Given the description of an element on the screen output the (x, y) to click on. 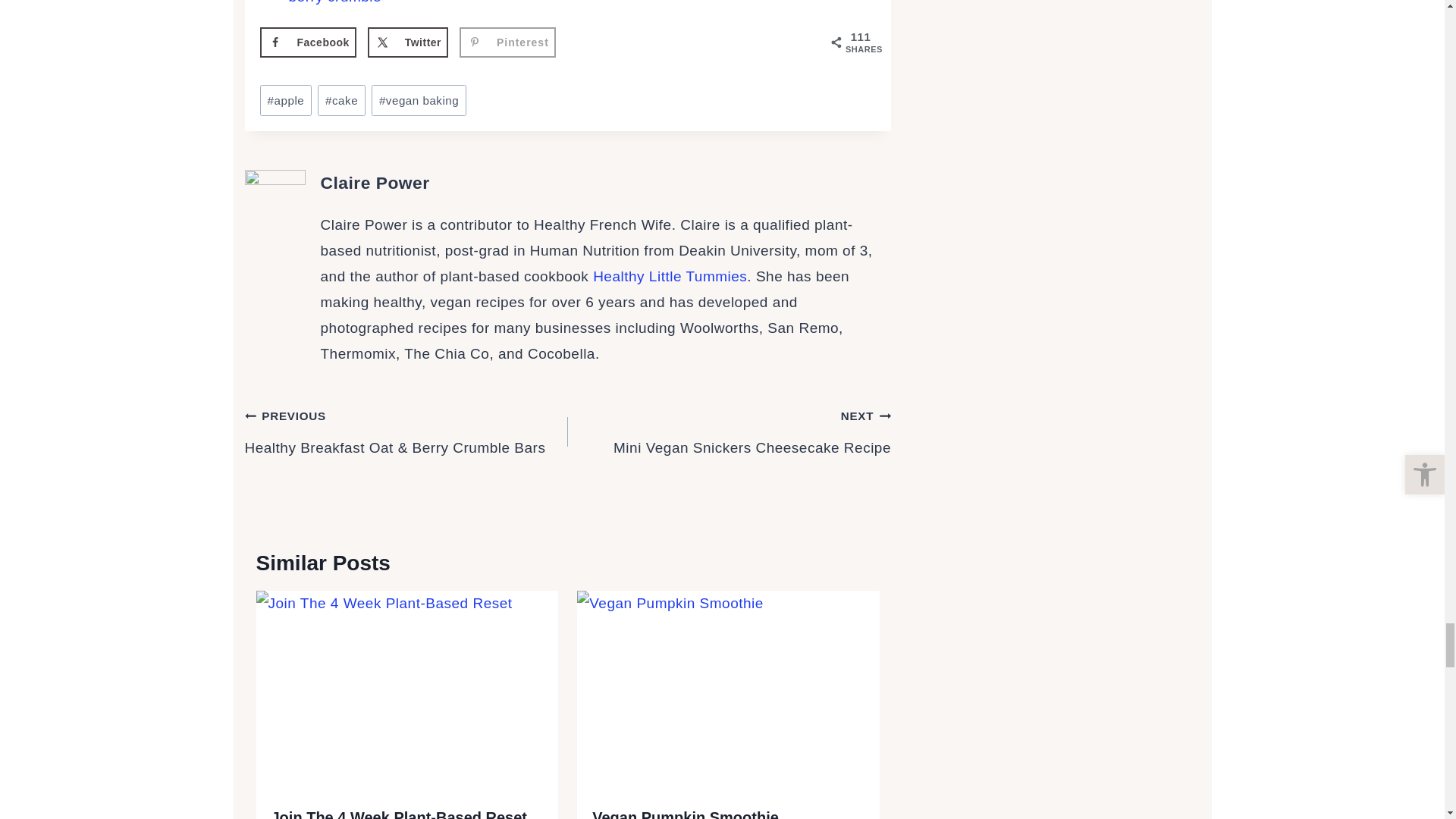
Share on Facebook (307, 42)
Save to Pinterest (508, 42)
cake (341, 100)
Share on X (408, 42)
apple (285, 100)
vegan baking (419, 100)
Posts by Claire Power (374, 182)
